Given the description of an element on the screen output the (x, y) to click on. 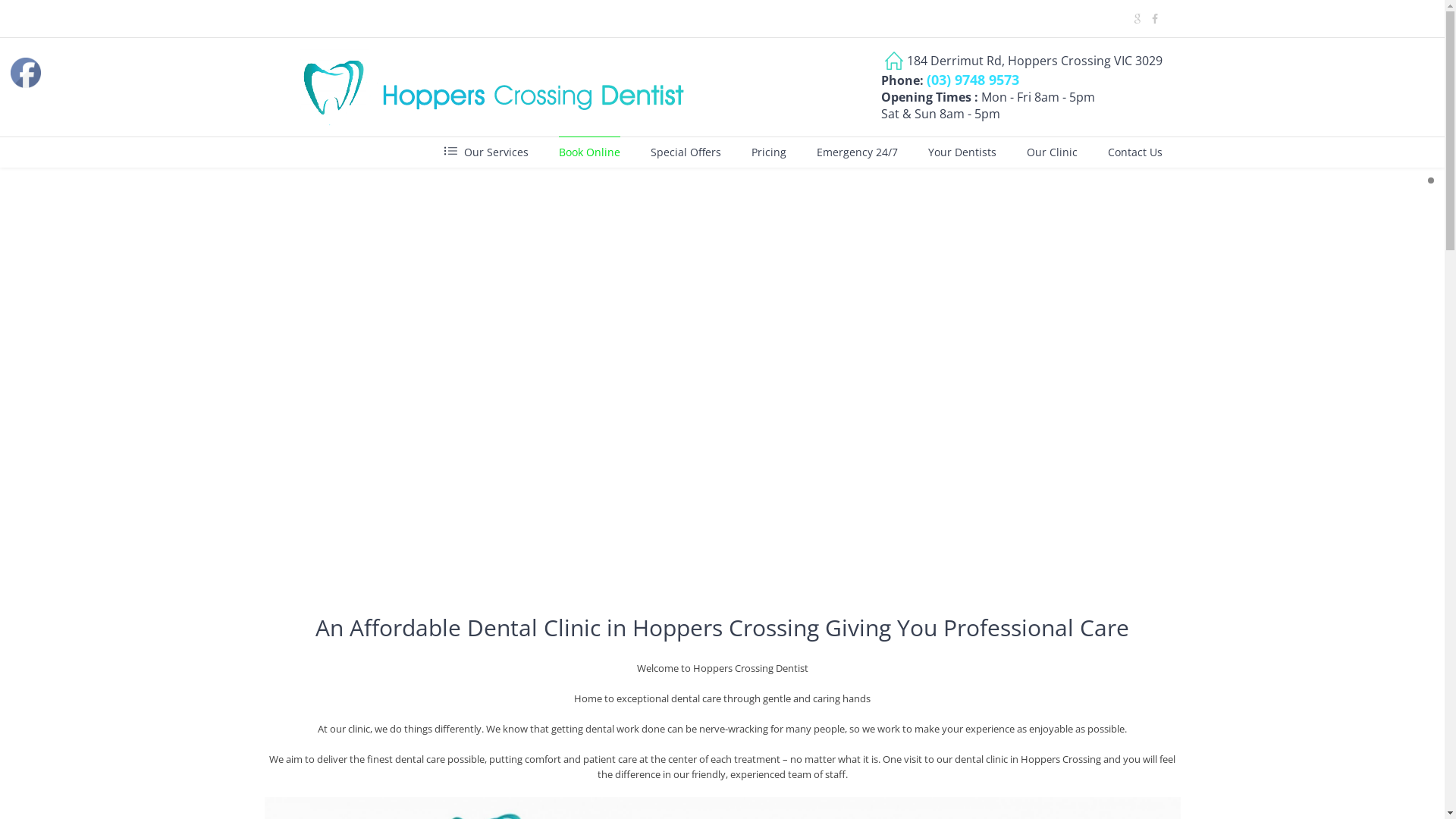
Our Clinic Element type: text (1051, 152)
Contact Us Element type: text (1134, 152)
Your Dentists Element type: text (962, 152)
Our Services Element type: text (486, 152)
(03) 9748 9573 Element type: text (972, 80)
Book Online Element type: text (588, 152)
Facebook Element type: hover (1154, 18)
Facebook Element type: hover (25, 72)
Emergency 24/7 Element type: text (856, 152)
Pricing Element type: text (767, 152)
Special Offers Element type: text (685, 152)
Google Element type: hover (1136, 18)
